Given the description of an element on the screen output the (x, y) to click on. 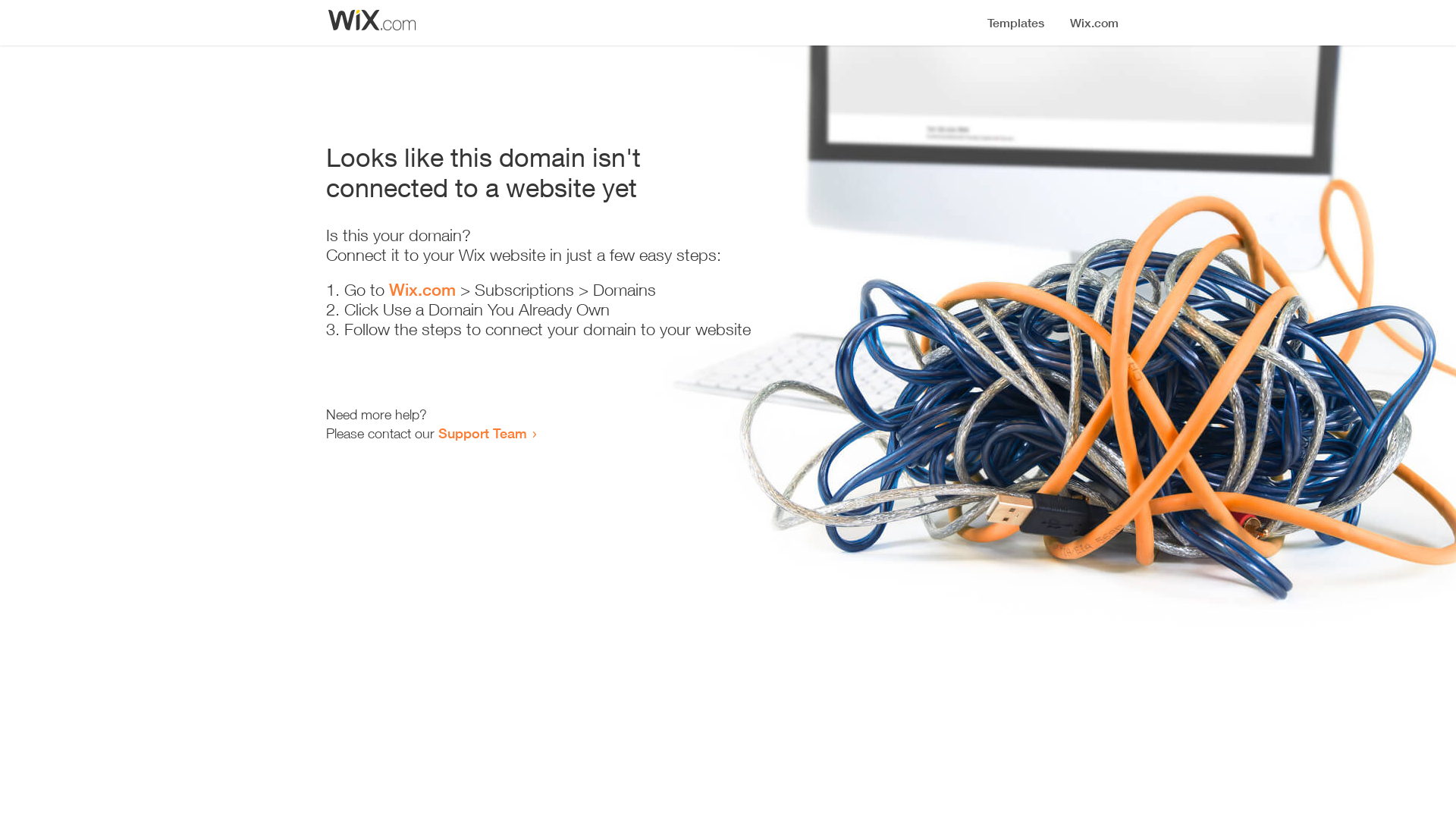
Support Team Element type: text (482, 432)
Wix.com Element type: text (422, 289)
